Given the description of an element on the screen output the (x, y) to click on. 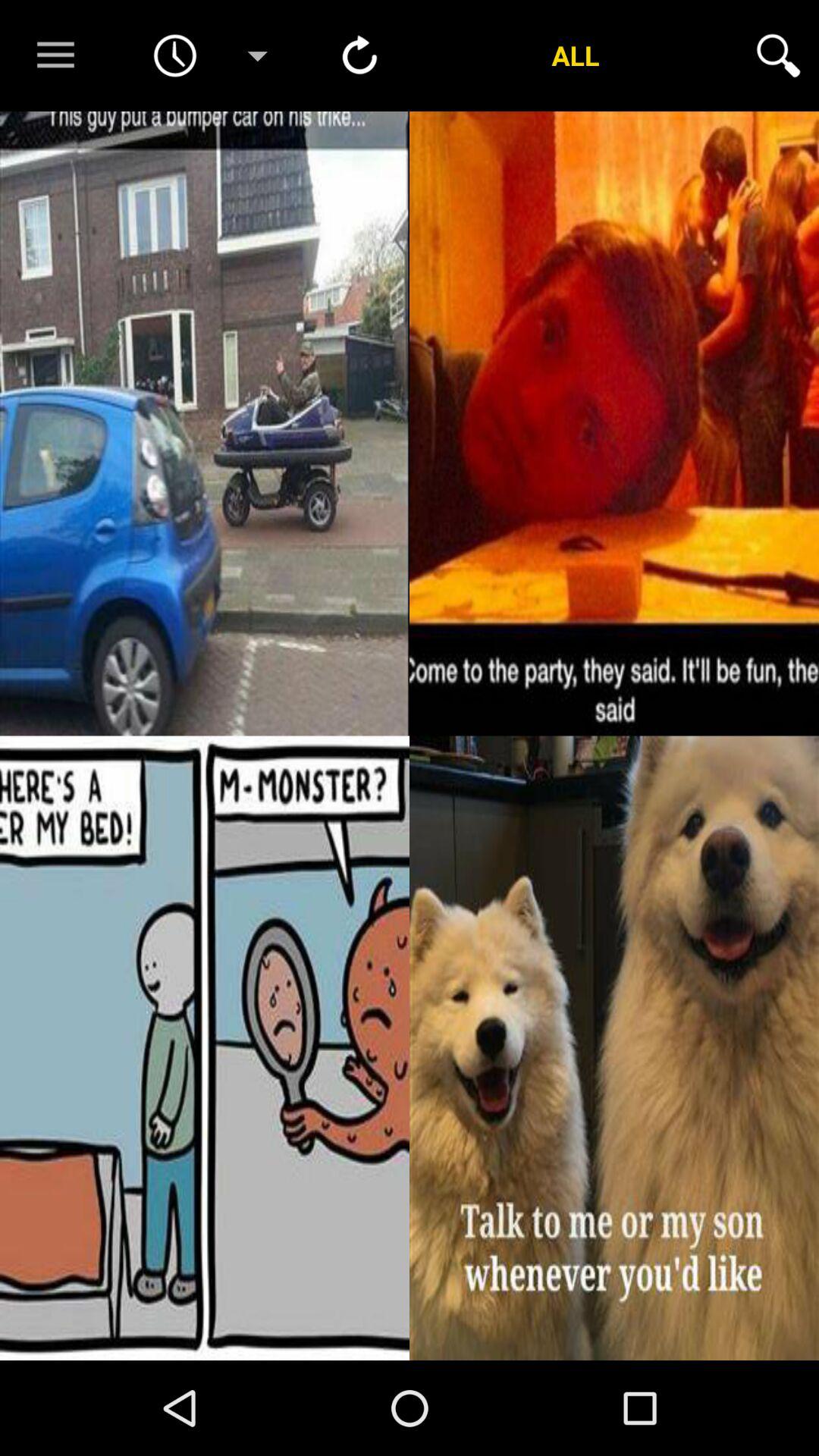
go to refresh button (359, 55)
